Given the description of an element on the screen output the (x, y) to click on. 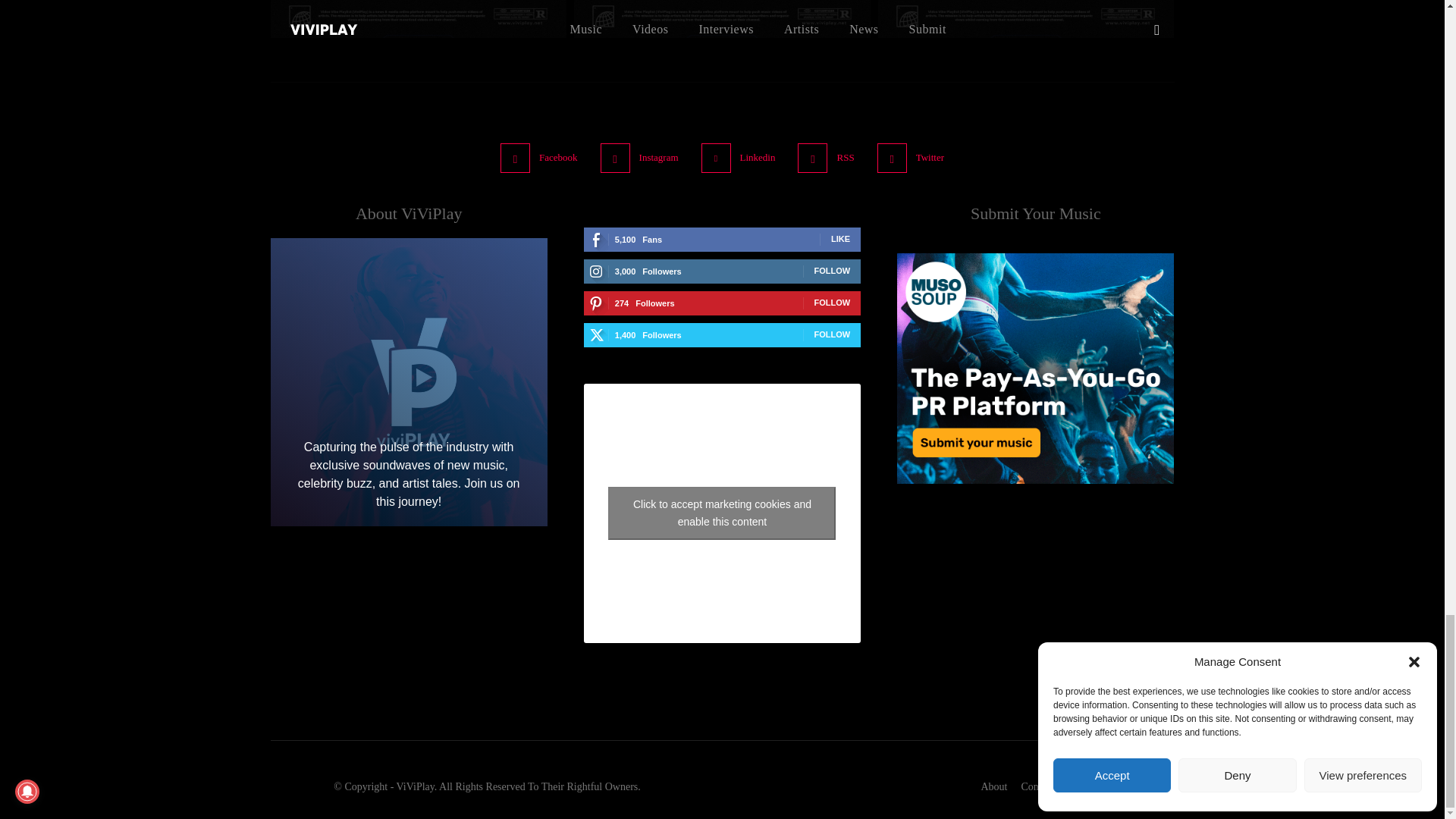
Facebook (514, 157)
Instagram (614, 157)
